Given the description of an element on the screen output the (x, y) to click on. 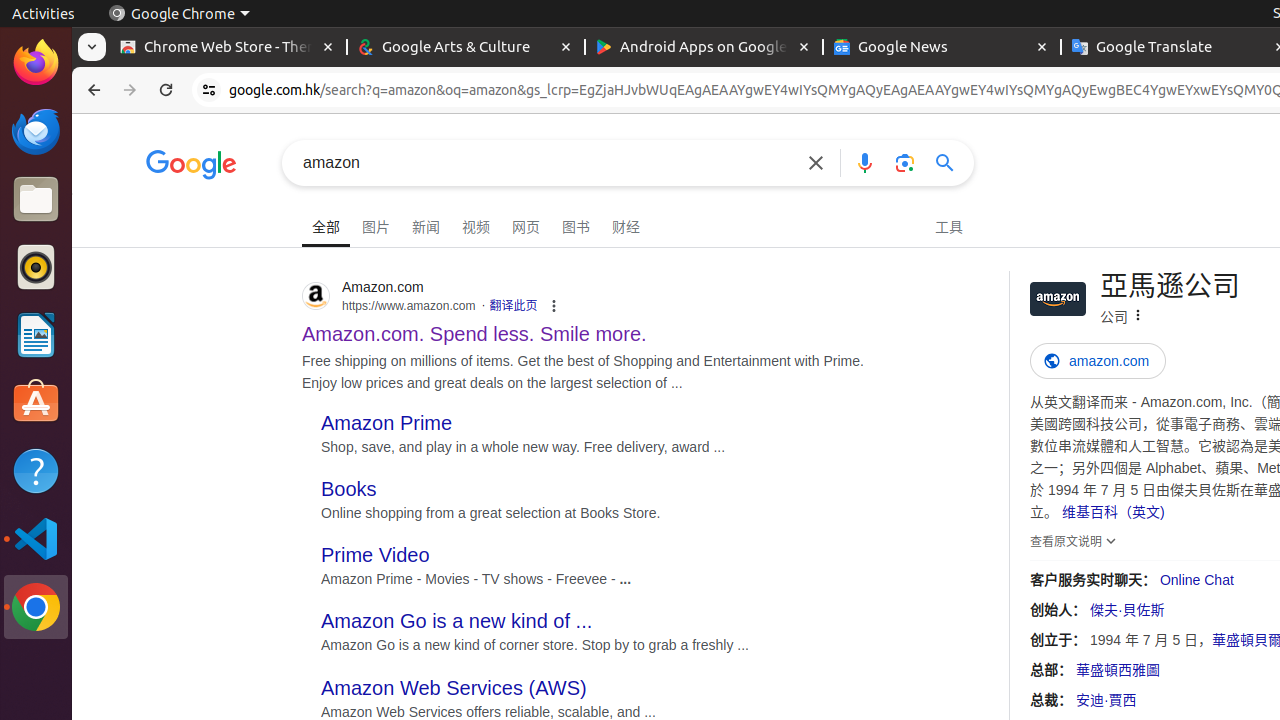
Ubuntu Software Element type: push-button (36, 402)
安迪·賈西 Element type: link (1106, 700)
无障碍功能反馈 Element type: link (138, 218)
Firefox Web Browser Element type: push-button (36, 63)
新闻 Element type: link (426, 224)
